Given the description of an element on the screen output the (x, y) to click on. 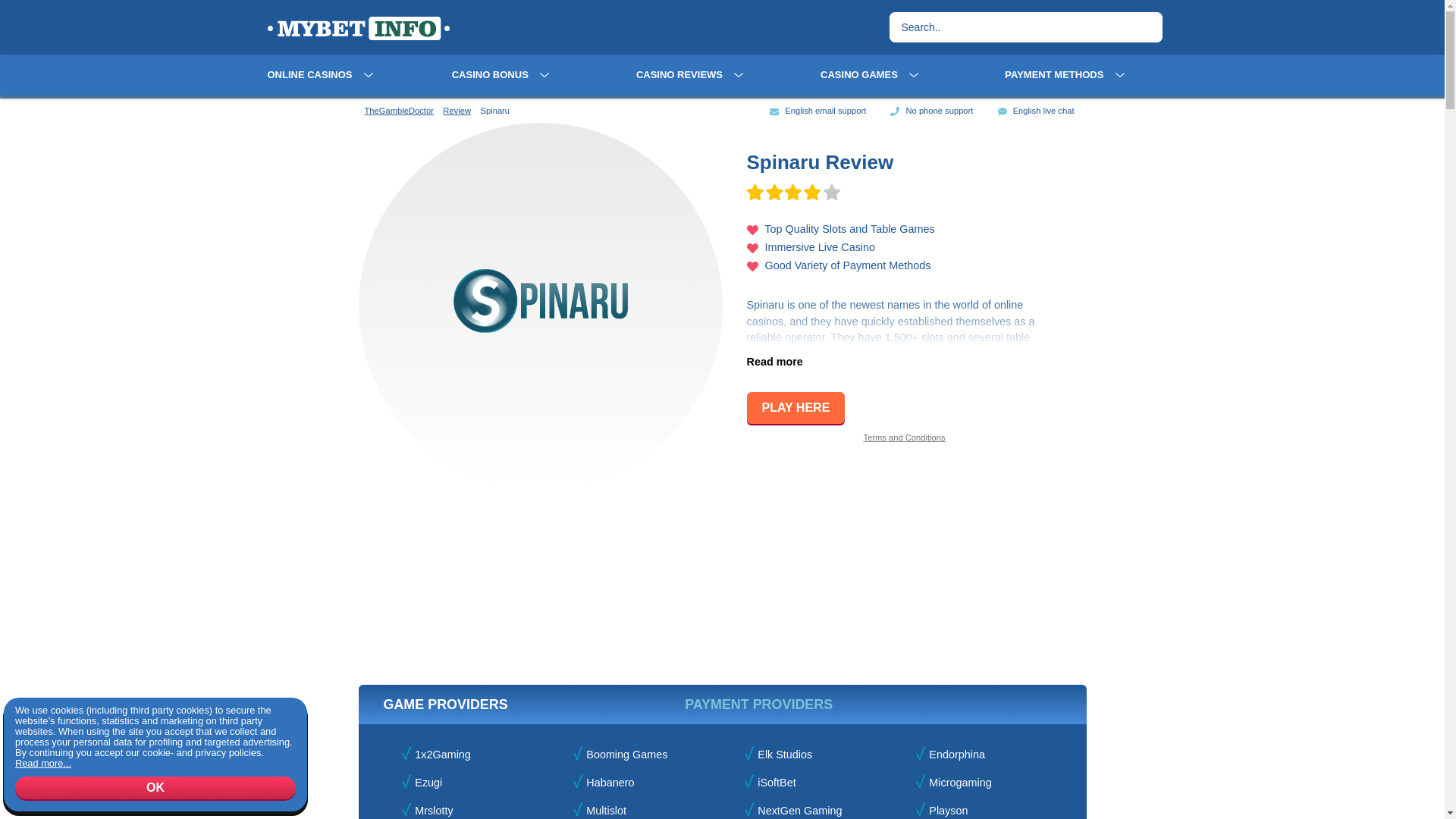
ONLINE CASINOS (309, 74)
CASINO BONUS (489, 74)
PAYMENT METHODS (1053, 74)
CASINO GAMES (859, 74)
Search for: (1009, 27)
CASINO REVIEWS (679, 74)
